Given the description of an element on the screen output the (x, y) to click on. 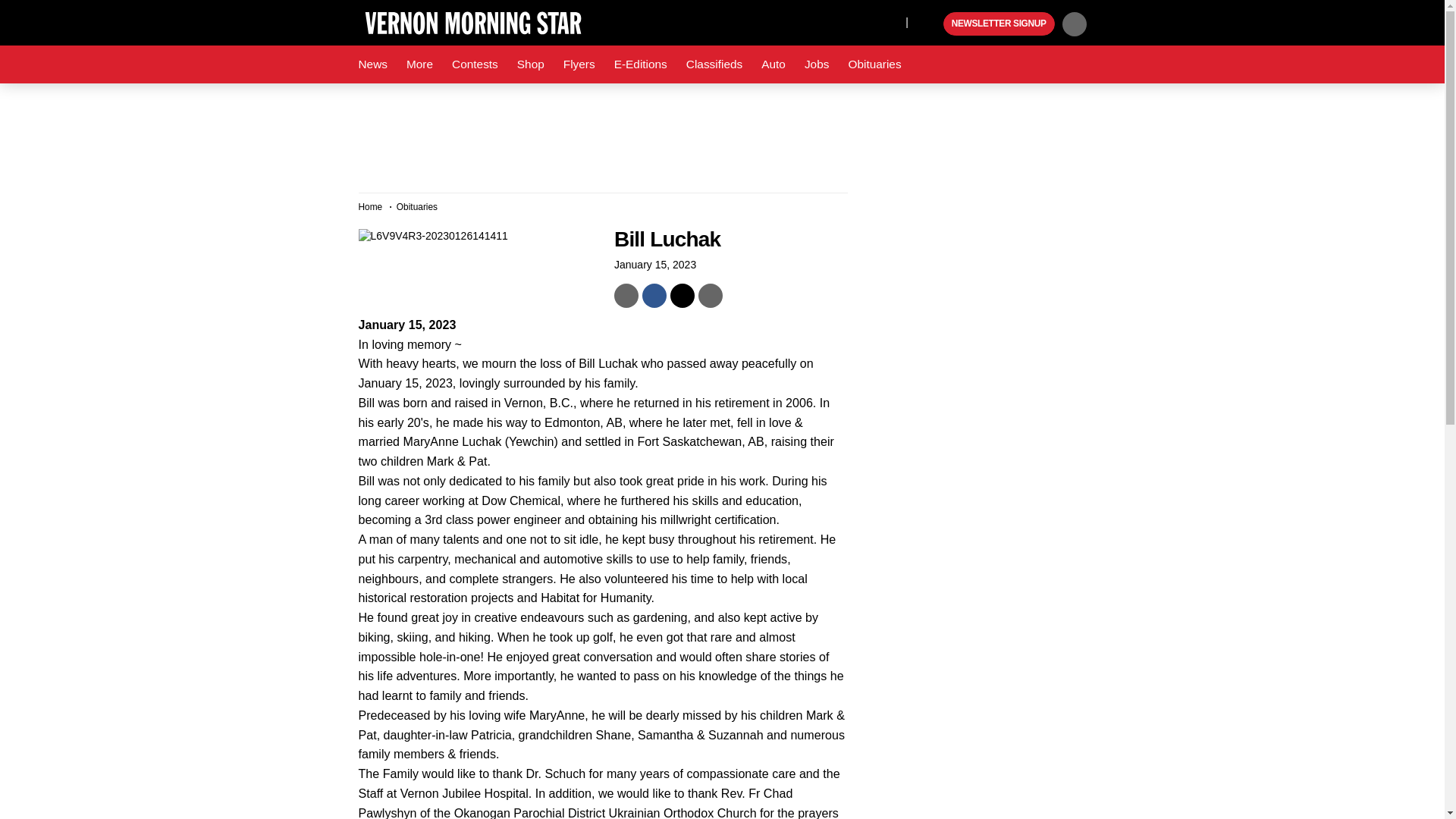
X (889, 21)
NEWSLETTER SIGNUP (998, 24)
Black Press Media (929, 24)
Play (929, 24)
News (372, 64)
